Given the description of an element on the screen output the (x, y) to click on. 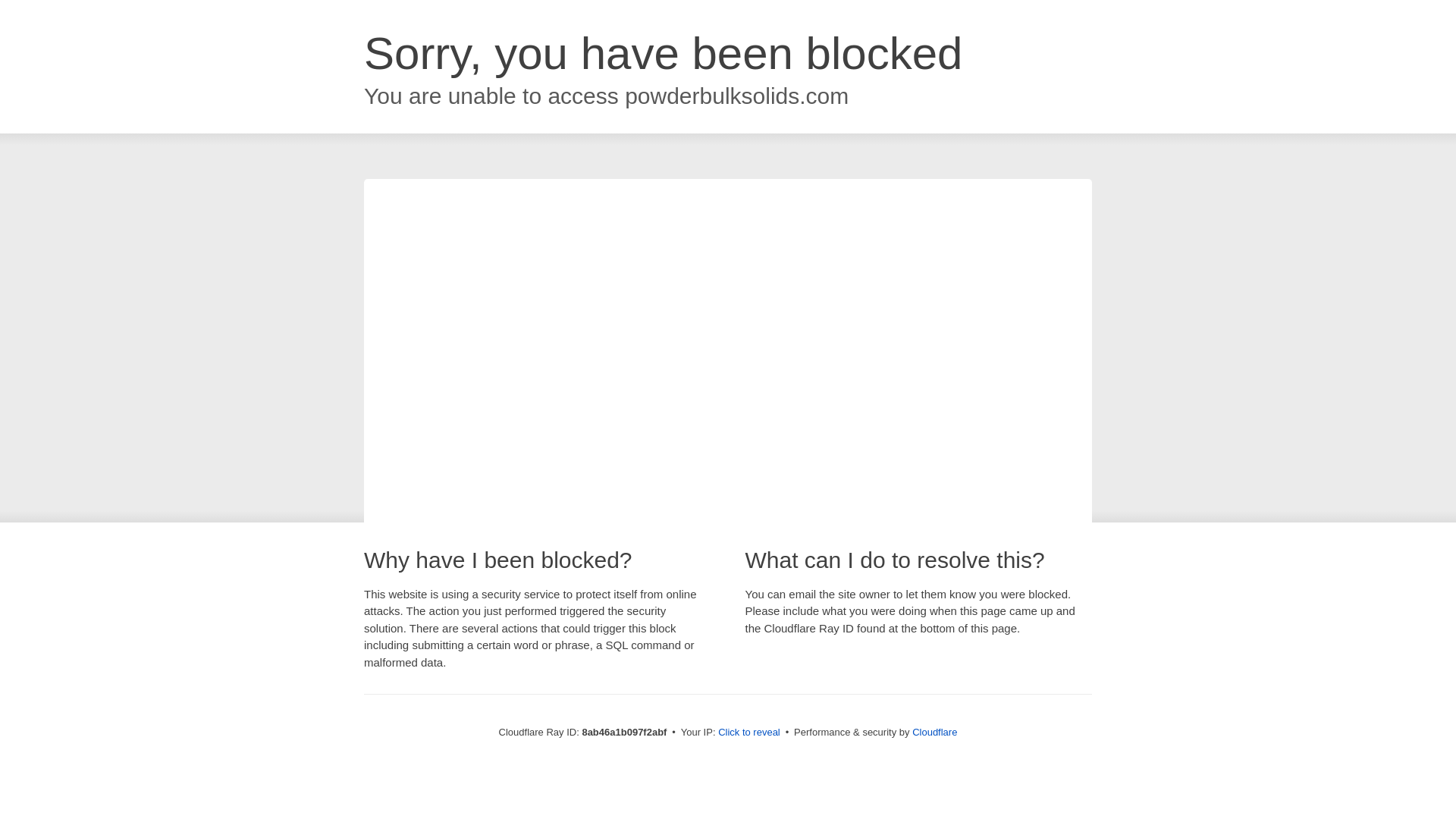
Click to reveal (748, 732)
Cloudflare (934, 731)
